Given the description of an element on the screen output the (x, y) to click on. 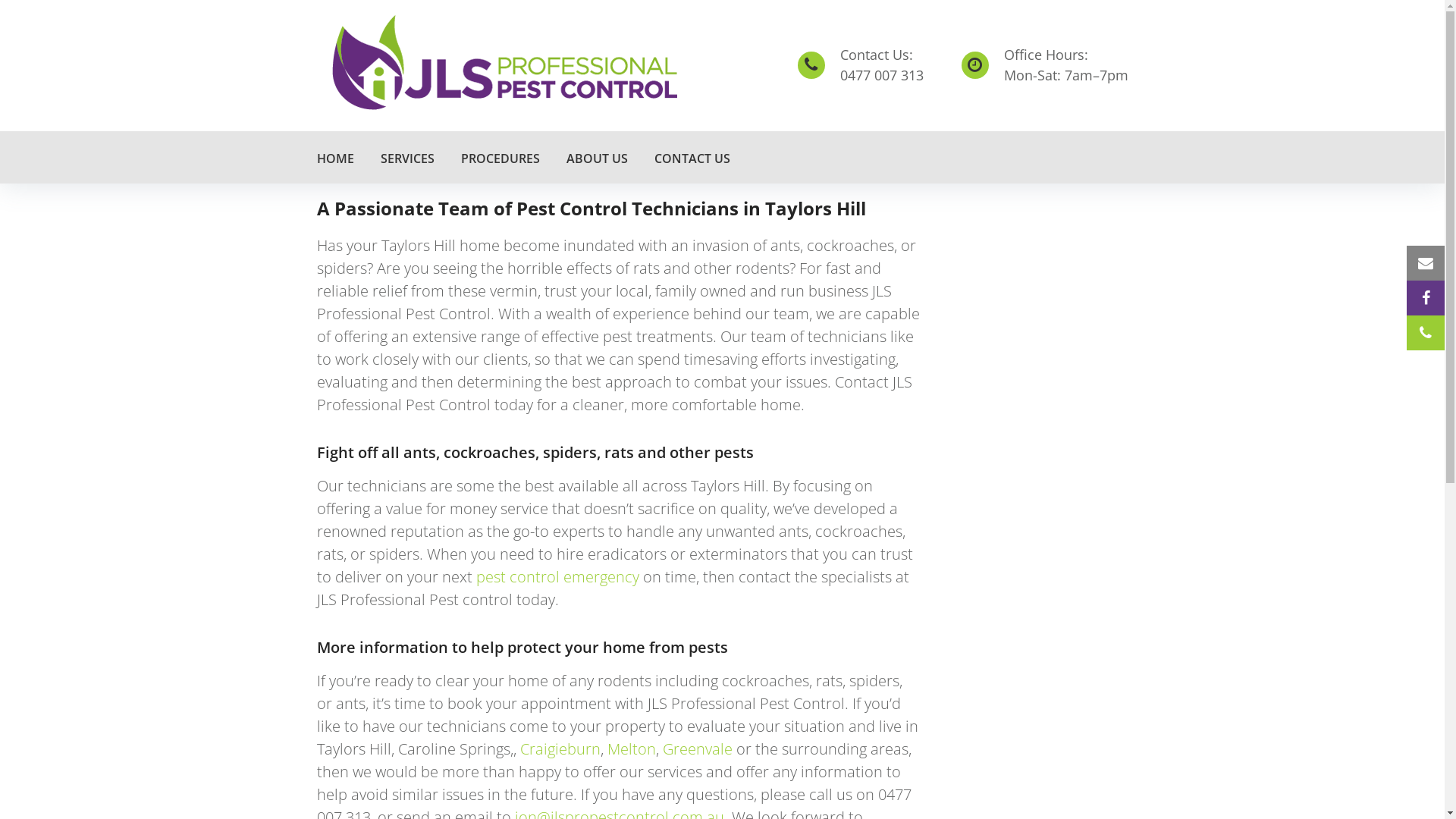
CONTACT US Element type: text (691, 157)
SERVICES Element type: text (407, 157)
pest control emergency Element type: text (557, 576)
0477 007 313 Element type: text (881, 74)
HOME Element type: text (335, 157)
Craigieburn Element type: text (560, 748)
Greenvale Element type: text (697, 748)
ABOUT US Element type: text (596, 157)
Skip to content Element type: text (0, 0)
Melton Element type: text (630, 748)
PROCEDURES Element type: text (500, 157)
